Given the description of an element on the screen output the (x, y) to click on. 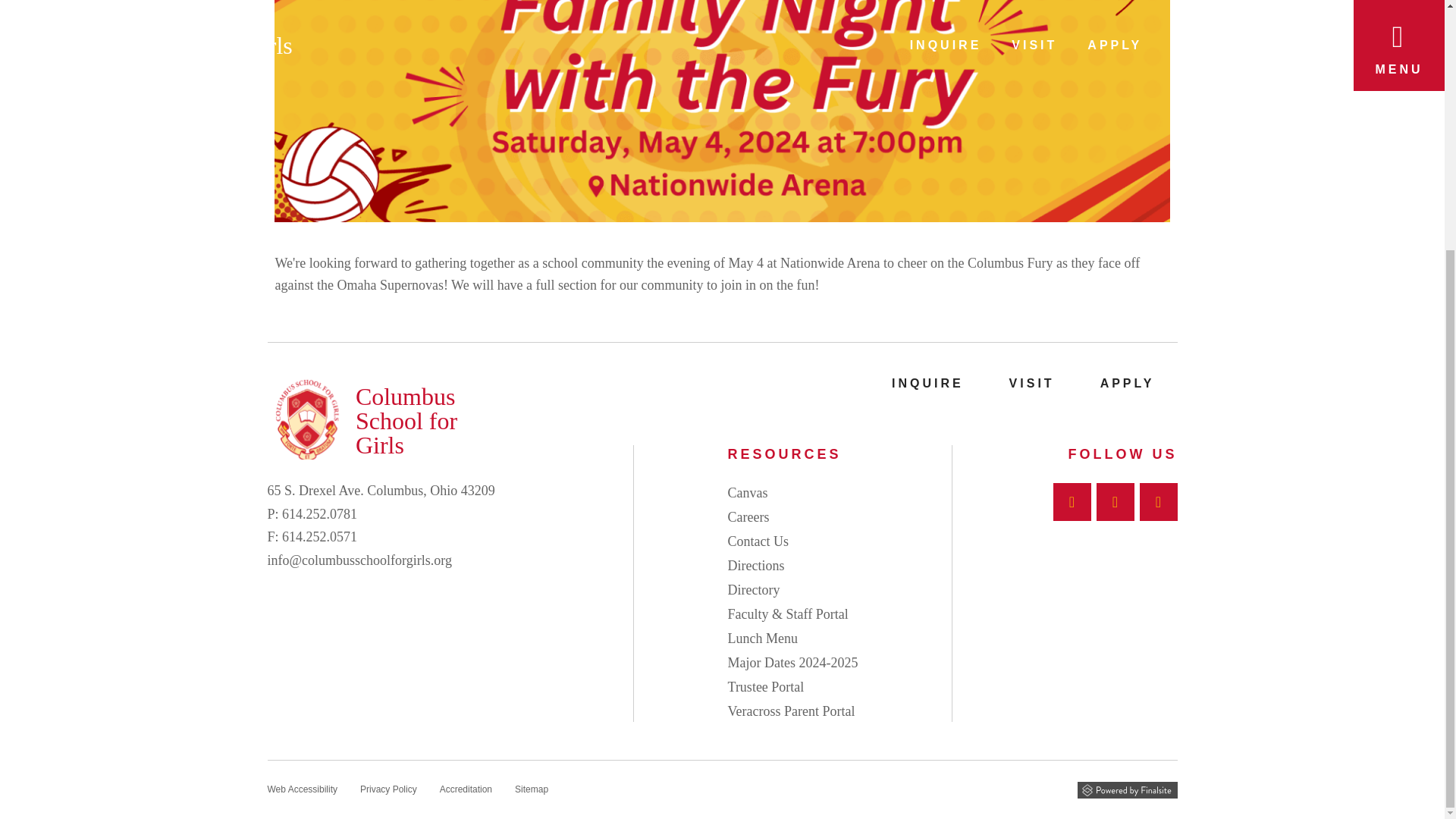
Email (358, 560)
Powered by Finalsite opens in a new window (1126, 790)
